Given the description of an element on the screen output the (x, y) to click on. 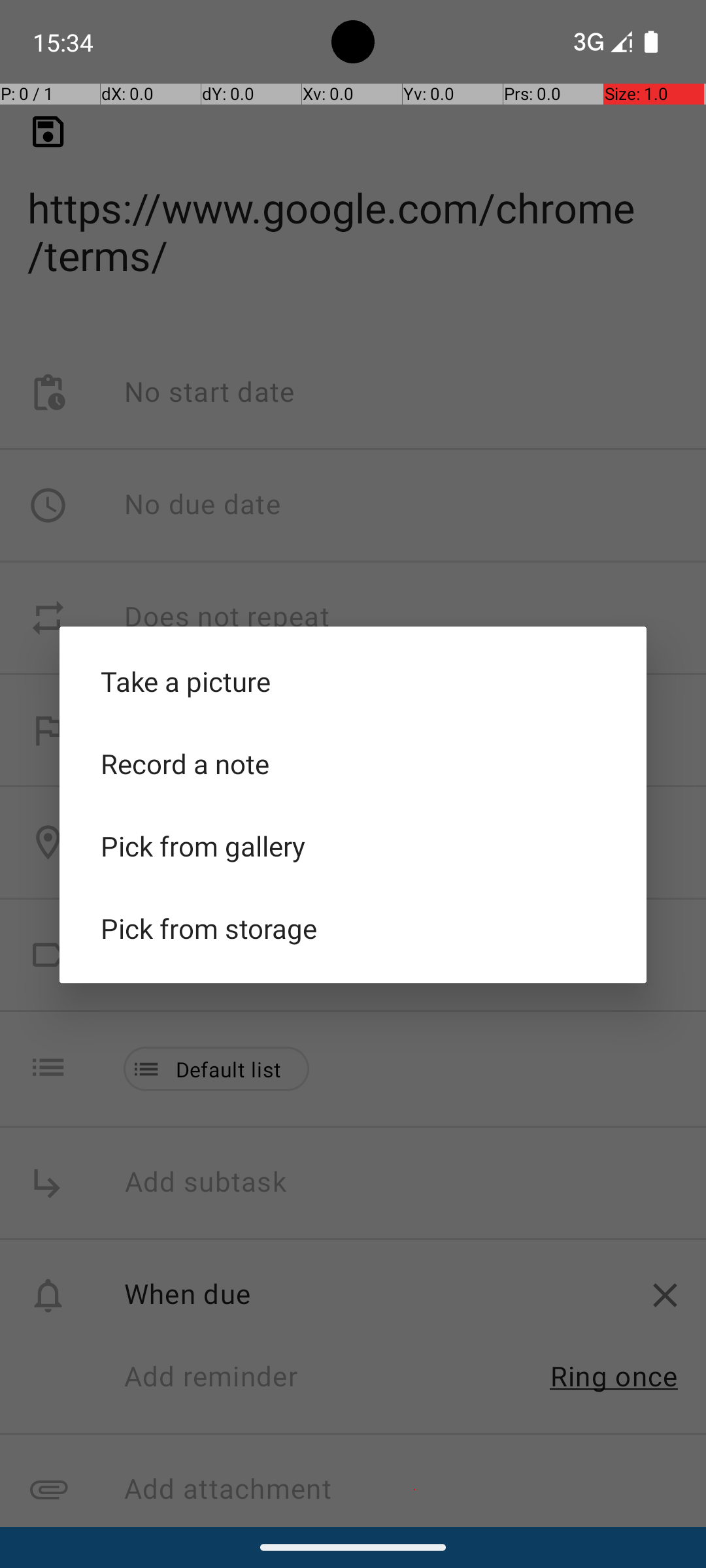
Take a picture Element type: android.widget.TextView (352, 681)
Record a note Element type: android.widget.TextView (352, 763)
Pick from gallery Element type: android.widget.TextView (352, 845)
Pick from storage Element type: android.widget.TextView (352, 928)
